Given the description of an element on the screen output the (x, y) to click on. 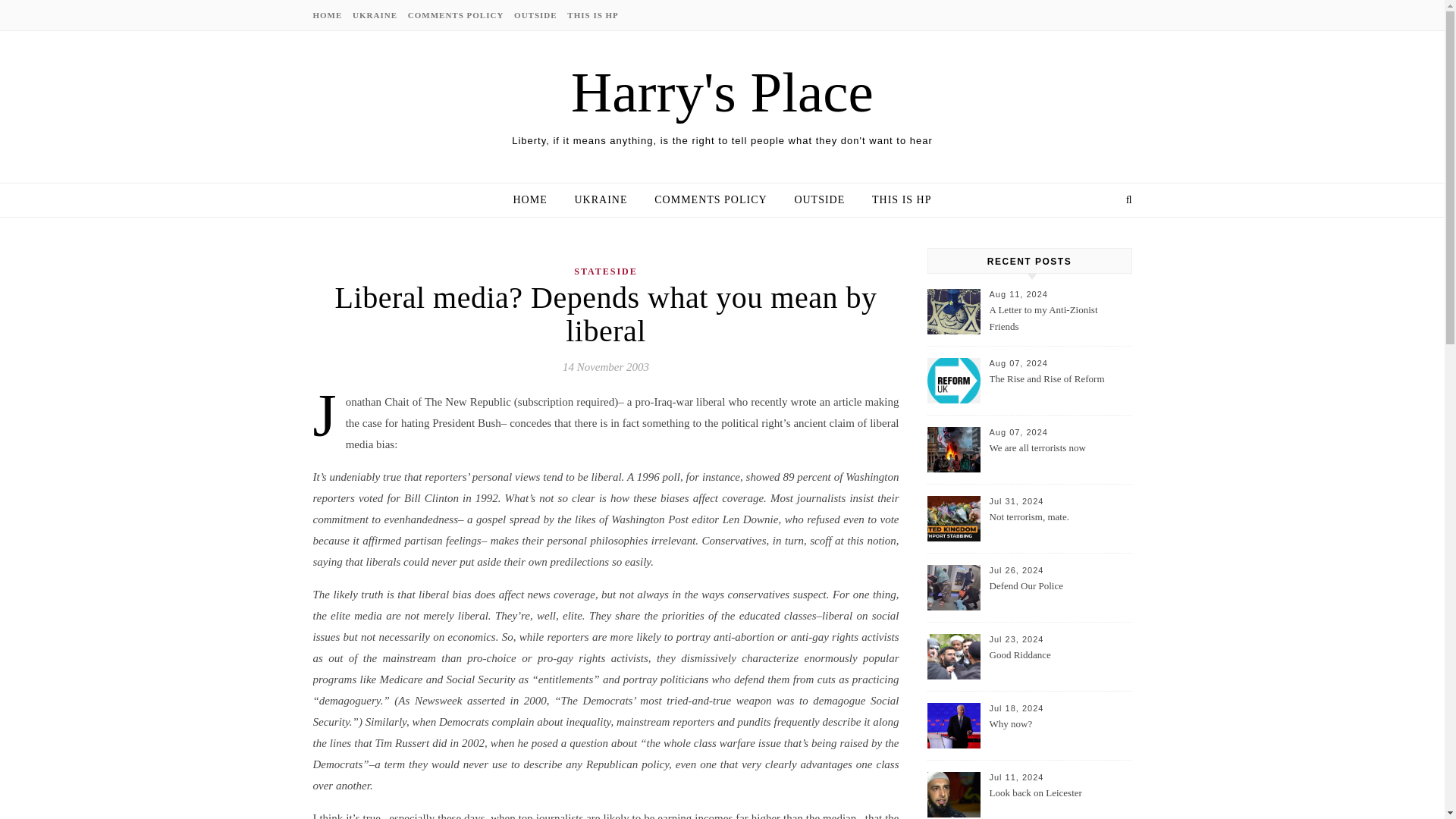
The Rise and Rise of Reform (1058, 388)
OUTSIDE (535, 15)
Harry's Place (721, 91)
Defend Our Police (1058, 595)
We are all terrorists now (1058, 457)
COMMENTS POLICY (456, 15)
A Letter to my Anti-Zionist Friends (1058, 319)
STATESIDE (605, 271)
UKRAINE (600, 200)
THIS IS HP (590, 15)
